Given the description of an element on the screen output the (x, y) to click on. 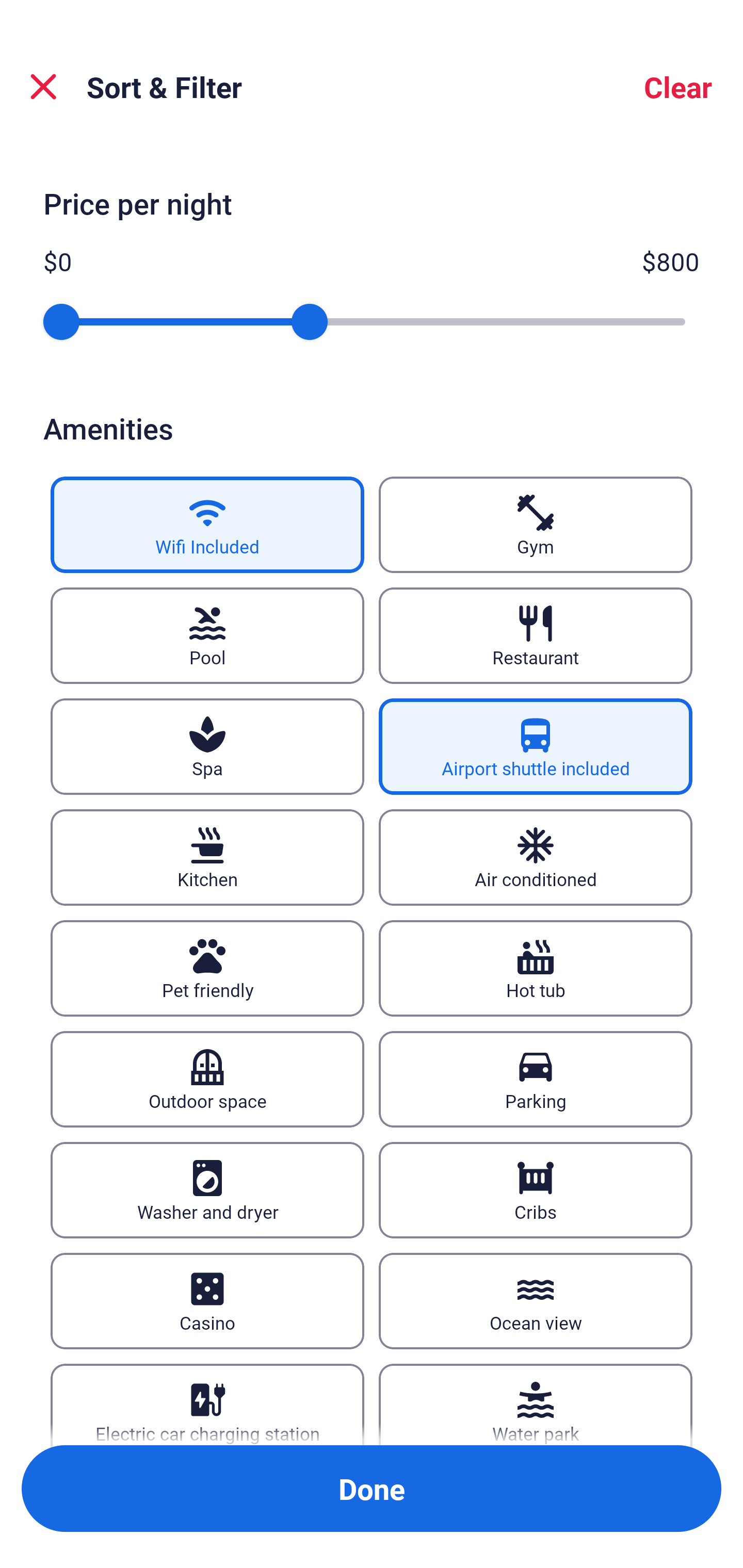
Close Sort and Filter (43, 86)
Clear (677, 86)
Wifi Included (207, 524)
Gym (535, 524)
Pool (207, 635)
Restaurant (535, 635)
Spa (207, 745)
Airport shuttle included (535, 745)
Kitchen (207, 857)
Air conditioned (535, 857)
Pet friendly (207, 968)
Hot tub (535, 968)
Outdoor space (207, 1079)
Parking (535, 1079)
Washer and dryer (207, 1189)
Cribs (535, 1189)
Casino (207, 1301)
Ocean view (535, 1301)
Electric car charging station (207, 1404)
Water park (535, 1404)
Apply and close Sort and Filter Done (371, 1488)
